Given the description of an element on the screen output the (x, y) to click on. 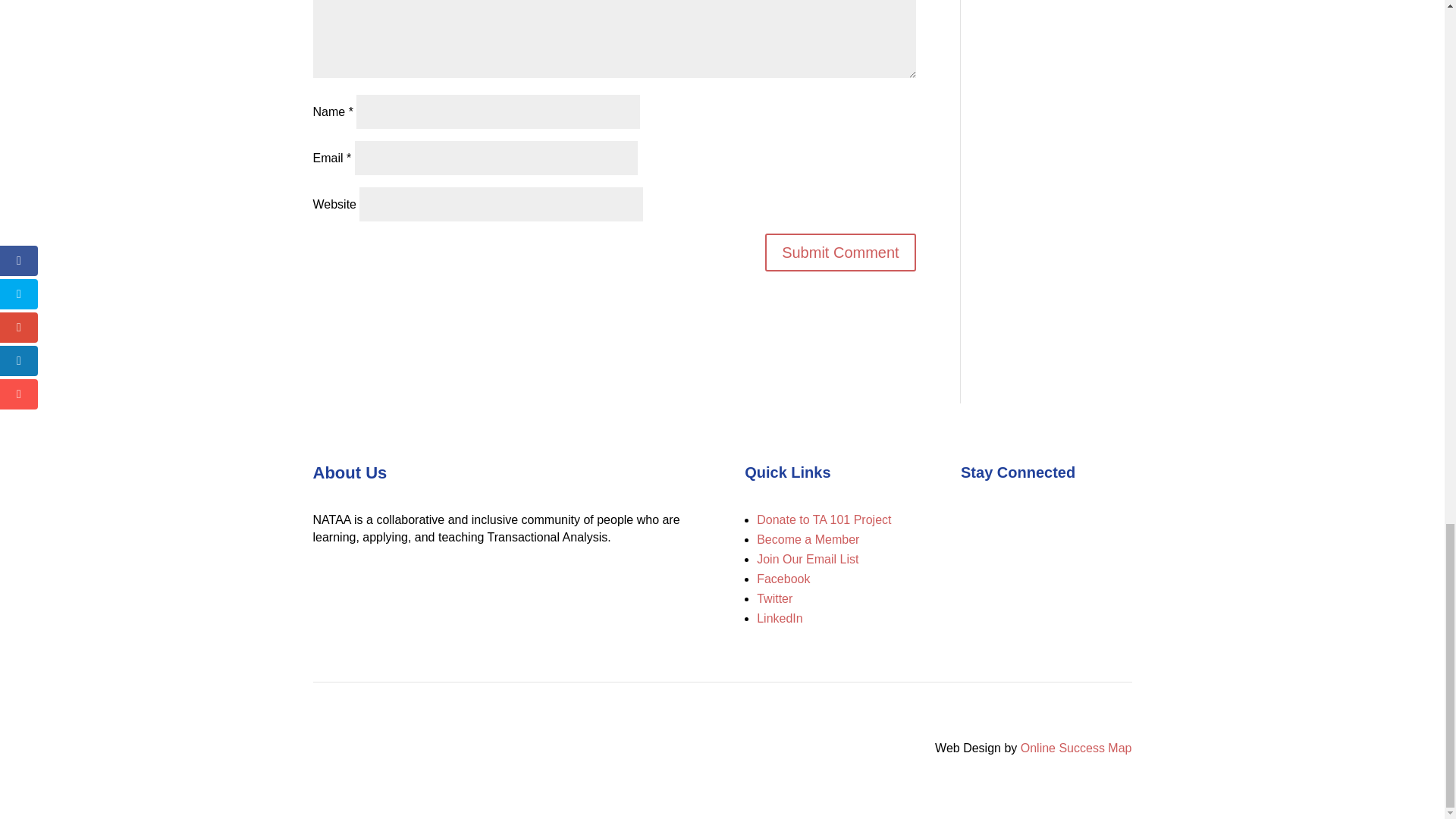
Follow on X (1002, 522)
Follow on Youtube (1033, 522)
Submit Comment (840, 252)
Follow on Facebook (972, 522)
